Given the description of an element on the screen output the (x, y) to click on. 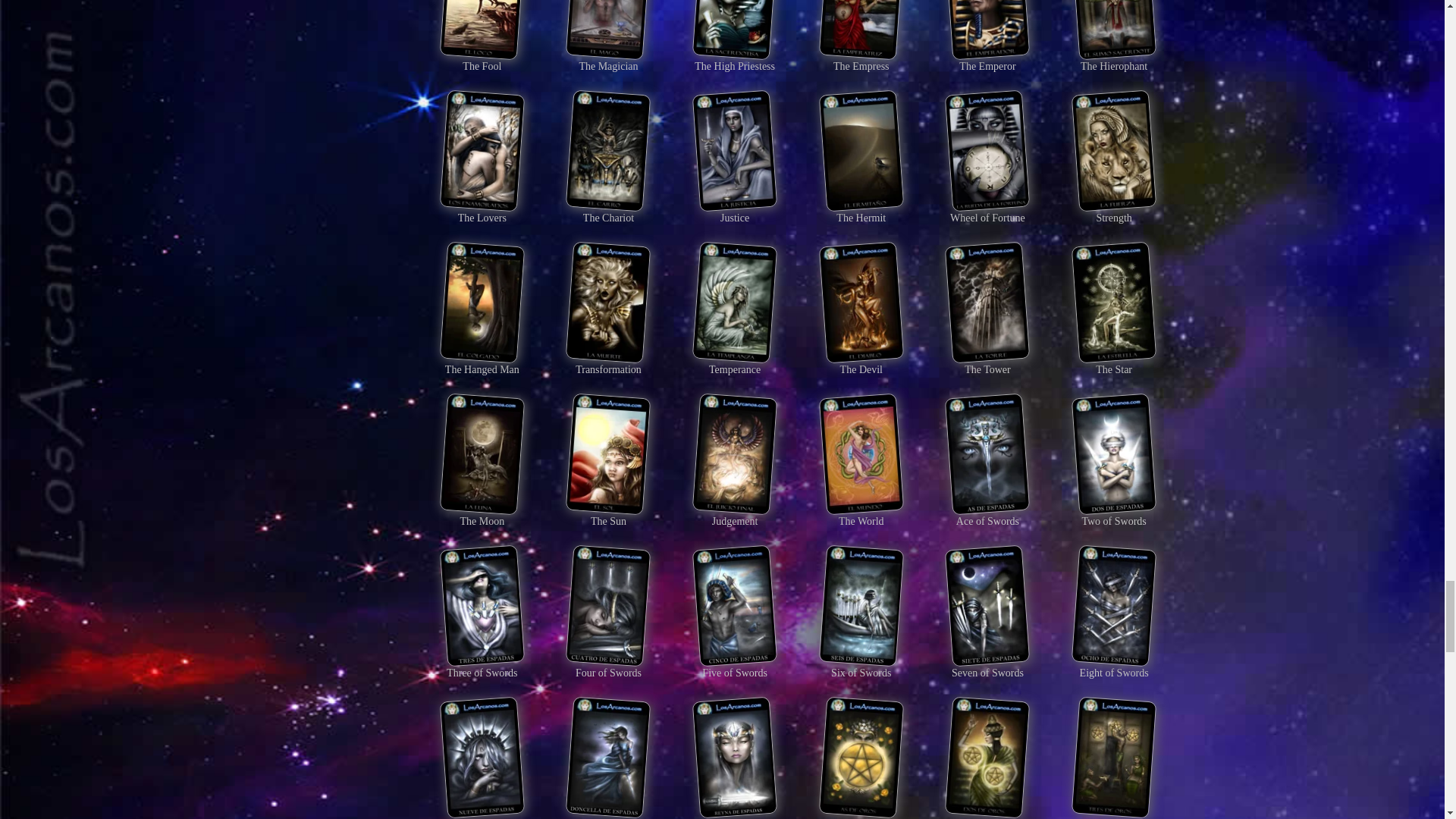
The Lovers (482, 211)
The Magician (607, 60)
The Hermit (860, 211)
The High Priestess (734, 60)
The Hanged Man (482, 363)
The Chariot (607, 211)
Justice (734, 211)
The Empress (860, 60)
Transformation (607, 363)
The Fool (482, 60)
